Given the description of an element on the screen output the (x, y) to click on. 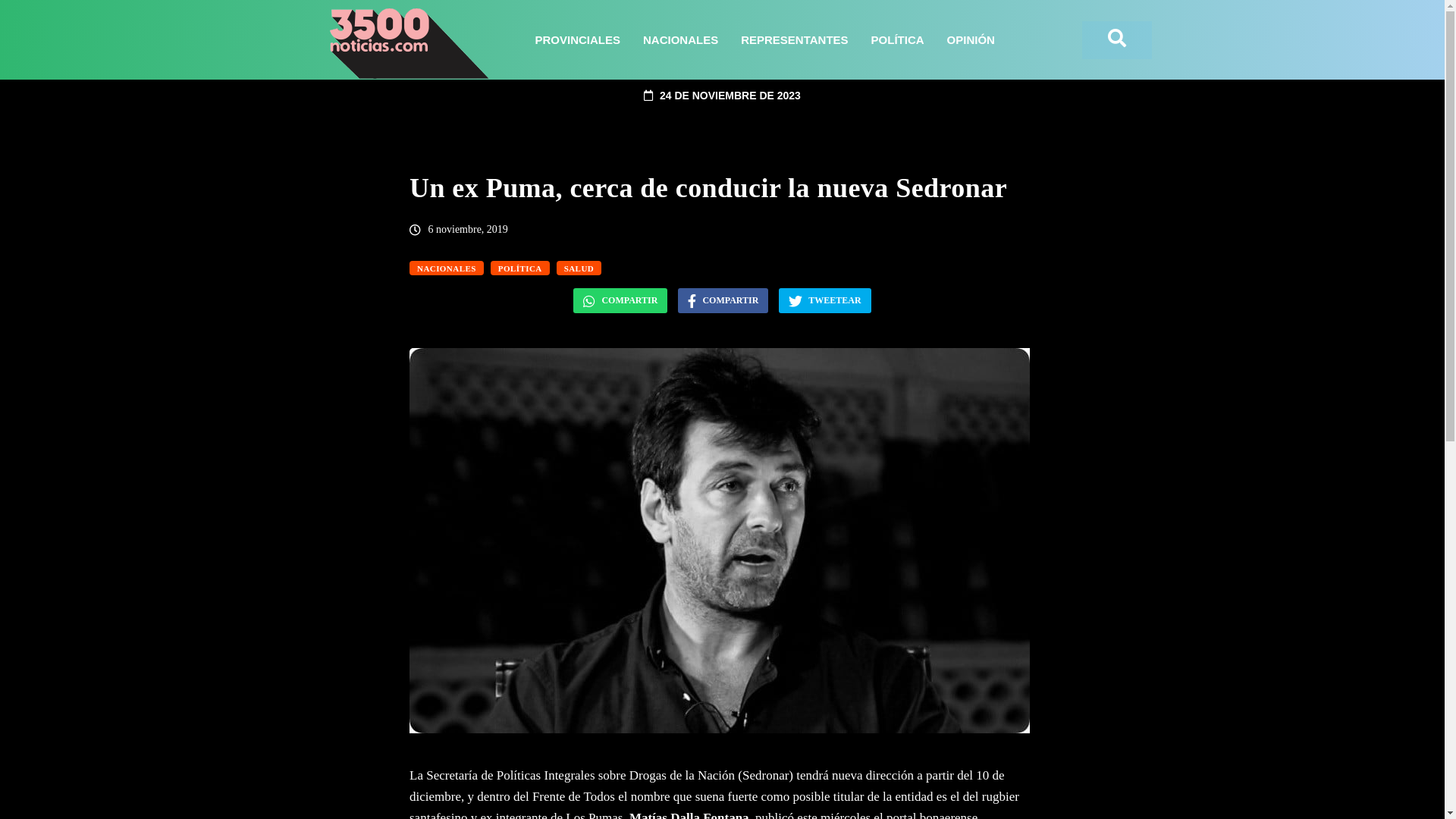
TWEETEAR Element type: text (824, 300)
COMPARTIR Element type: text (722, 300)
REPRESENTANTES Element type: text (794, 39)
NACIONALES Element type: text (446, 267)
COMPARTIR Element type: text (620, 300)
NACIONALES Element type: text (680, 39)
PROVINCIALES Element type: text (577, 39)
SALUD Element type: text (579, 267)
